Given the description of an element on the screen output the (x, y) to click on. 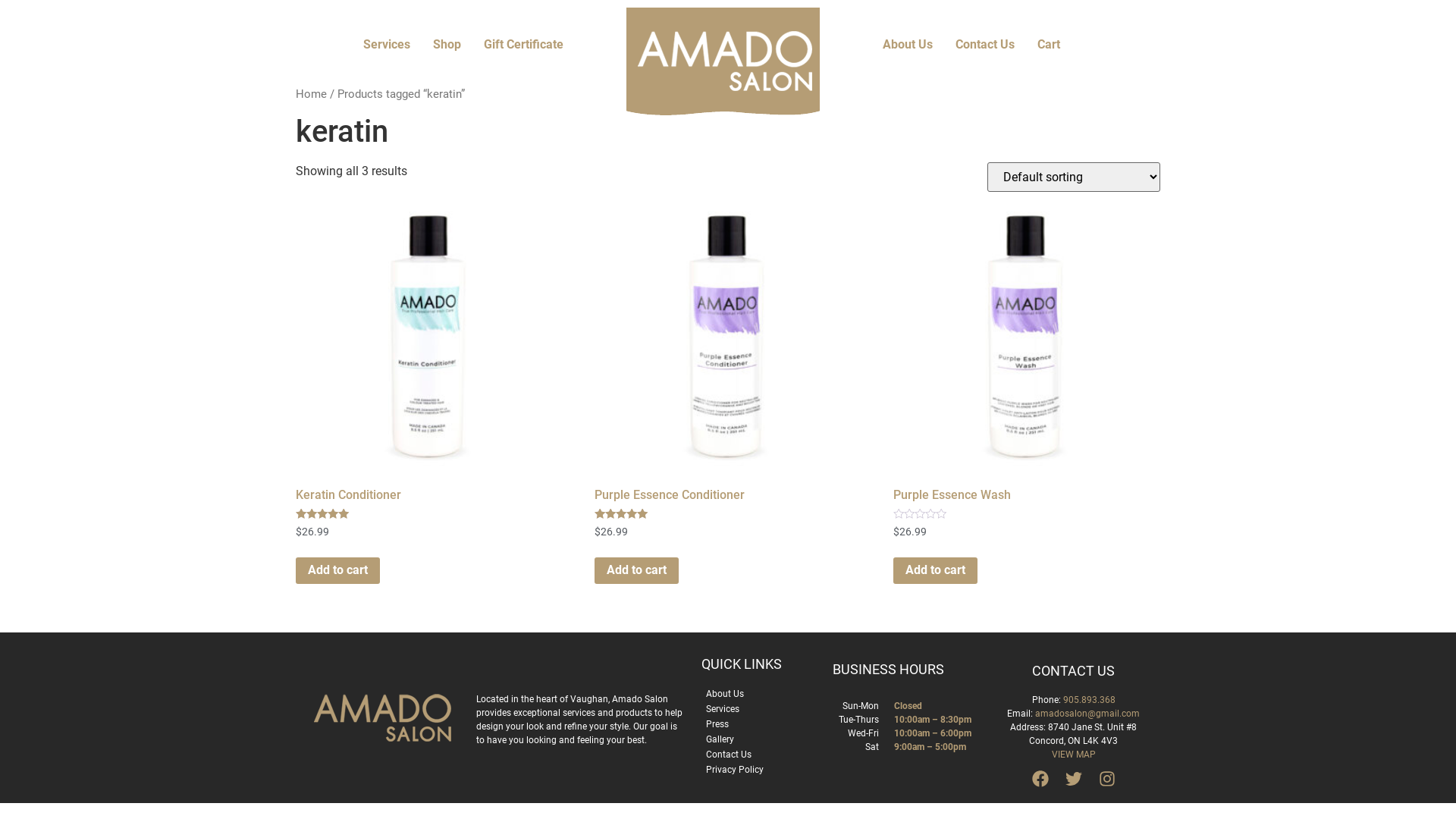
Gallery Element type: text (719, 738)
Cart Element type: text (1048, 44)
VIEW MAP Element type: text (1073, 754)
Contact Us Element type: text (728, 754)
Contact Us Element type: text (985, 44)
Gift Certificate Element type: text (523, 44)
Privacy Policy Element type: text (734, 769)
Keratin Conditioner
Rated
out of 5
$26.99 Element type: text (428, 390)
Purple Essence Wash
$26.99 Element type: text (1026, 390)
About Us Element type: text (907, 44)
Add to cart Element type: text (935, 569)
Press Element type: text (717, 723)
amadosalon@gmail.com Element type: text (1087, 713)
Services Element type: text (722, 708)
Home Element type: text (310, 93)
Services Element type: text (386, 44)
About Us Element type: text (724, 693)
Add to cart Element type: text (337, 569)
Purple Essence Conditioner
Rated
out of 5
$26.99 Element type: text (727, 390)
Add to cart Element type: text (636, 569)
Shop Element type: text (446, 44)
